Given the description of an element on the screen output the (x, y) to click on. 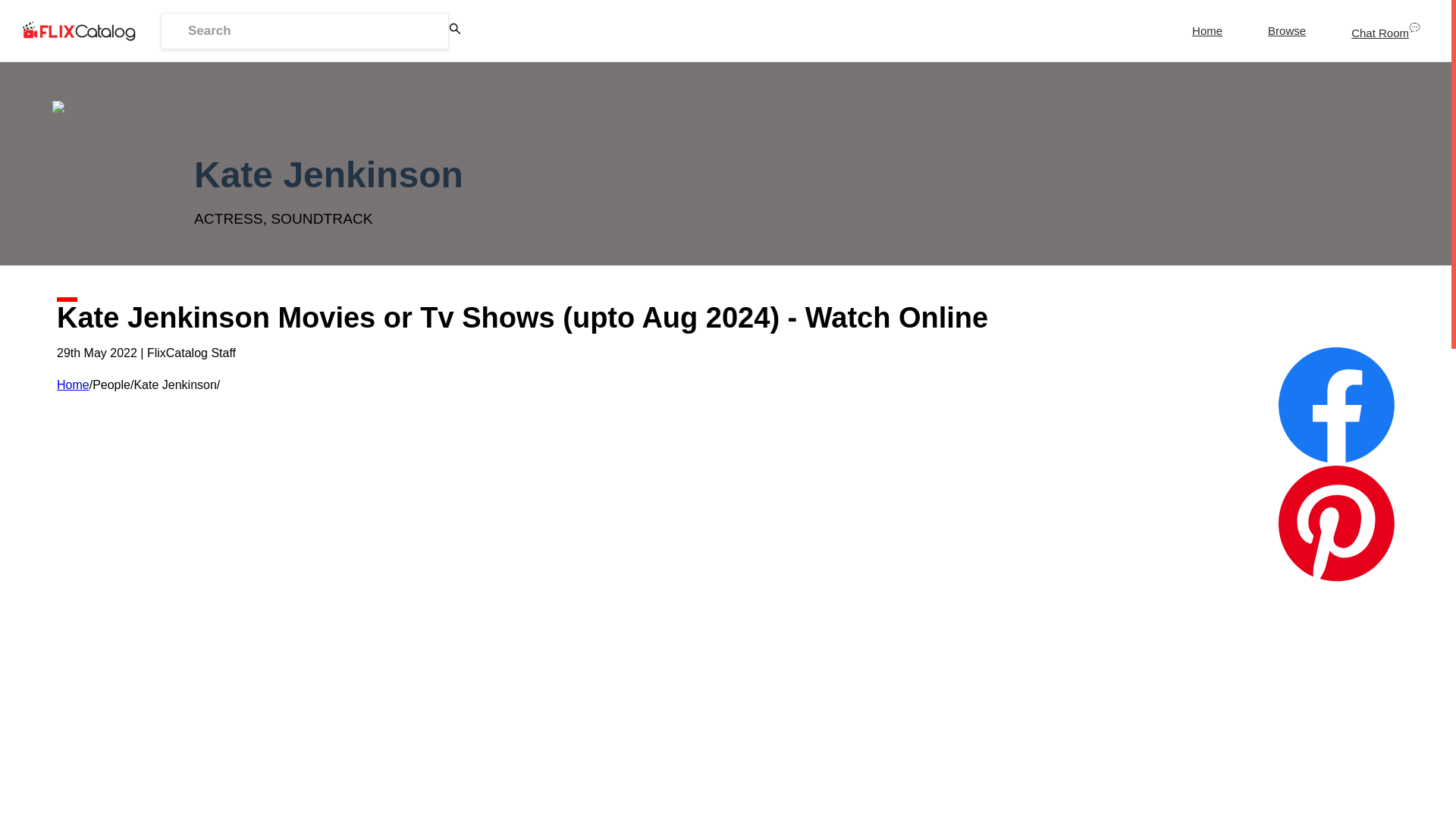
Home (72, 384)
Facebook (1336, 404)
Pinterest (1336, 523)
Pinterest (1336, 525)
Home (1206, 30)
Chat Room (1385, 32)
Twitter (1336, 643)
Browse (1286, 30)
Mail (1336, 761)
Mail (1336, 761)
